Given the description of an element on the screen output the (x, y) to click on. 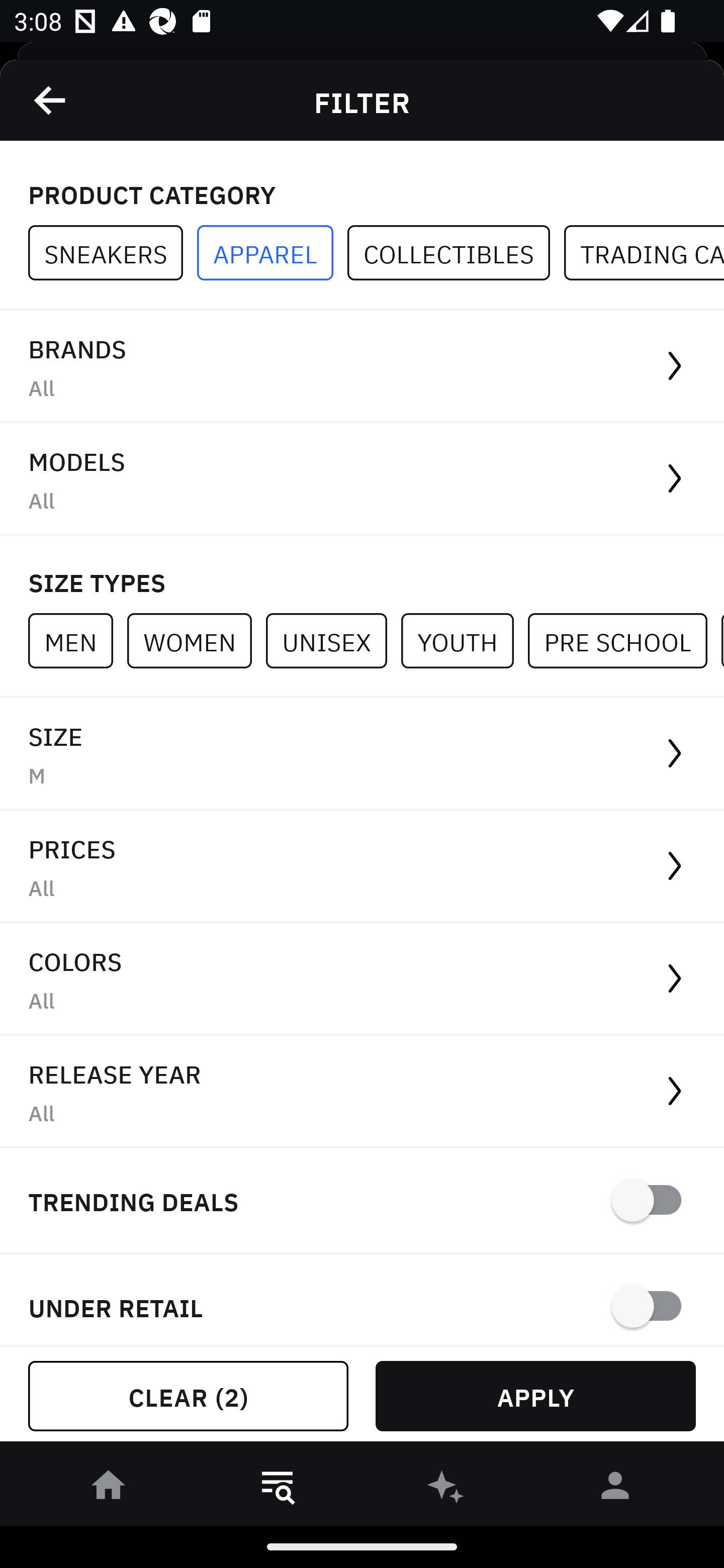
 (50, 100)
SNEAKERS (112, 252)
APPAREL (271, 252)
COLLECTIBLES (455, 252)
TRADING CARDS (643, 252)
BRANDS All (362, 366)
MODELS All (362, 479)
MEN (77, 640)
WOMEN (196, 640)
UNISEX (333, 640)
YOUTH (464, 640)
PRE SCHOOL (624, 640)
SIZE M (362, 753)
PRICES All (362, 866)
COLORS All (362, 979)
RELEASE YEAR All (362, 1091)
TRENDING DEALS (362, 1200)
UNDER RETAIL (362, 1299)
CLEAR (2) (188, 1396)
APPLY (535, 1396)
󰋜 (108, 1488)
󱎸 (277, 1488)
󰫢 (446, 1488)
󰀄 (615, 1488)
